Given the description of an element on the screen output the (x, y) to click on. 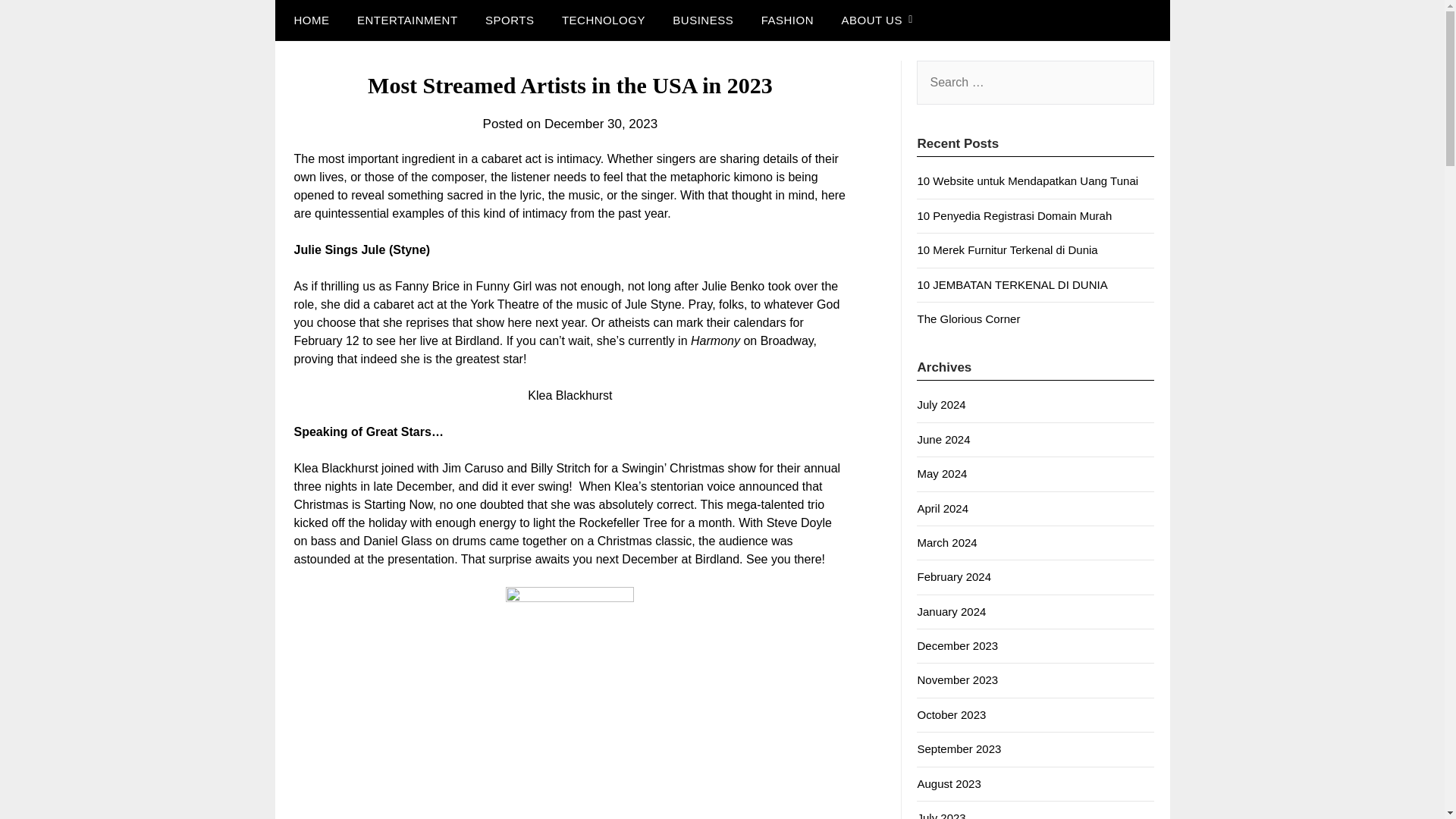
10 Merek Furnitur Terkenal di Dunia (1007, 249)
November 2023 (957, 679)
HOME (307, 20)
BUSINESS (703, 20)
October 2023 (951, 714)
ENTERTAINMENT (407, 20)
SPORTS (509, 20)
10 JEMBATAN TERKENAL DI DUNIA (1011, 284)
January 2024 (951, 611)
The Glorious Corner (968, 318)
July 2024 (941, 404)
Search (38, 22)
May 2024 (941, 472)
10 Penyedia Registrasi Domain Murah (1014, 215)
FASHION (787, 20)
